Given the description of an element on the screen output the (x, y) to click on. 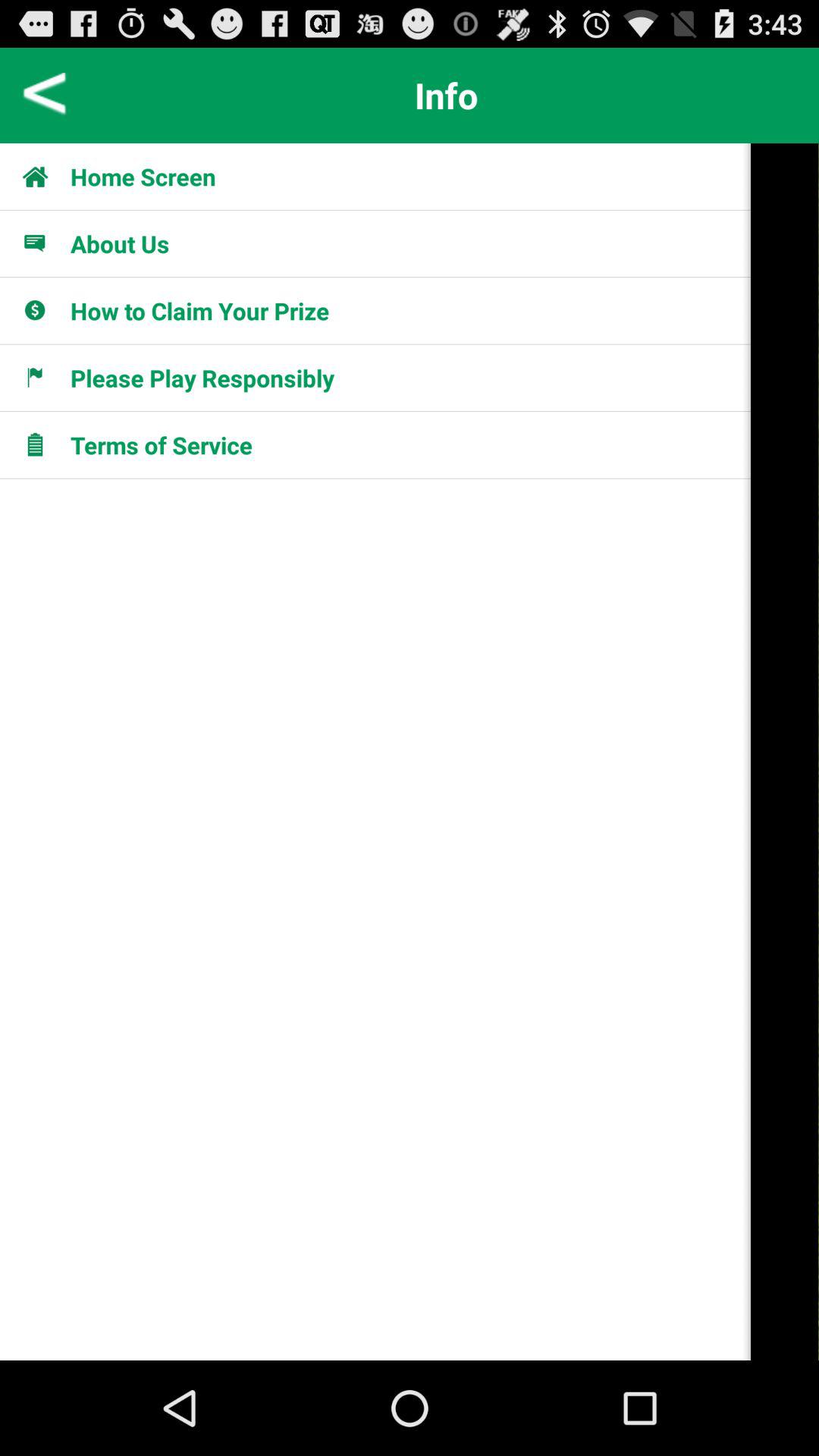
launch the icon below the home screen item (43, 243)
